Given the description of an element on the screen output the (x, y) to click on. 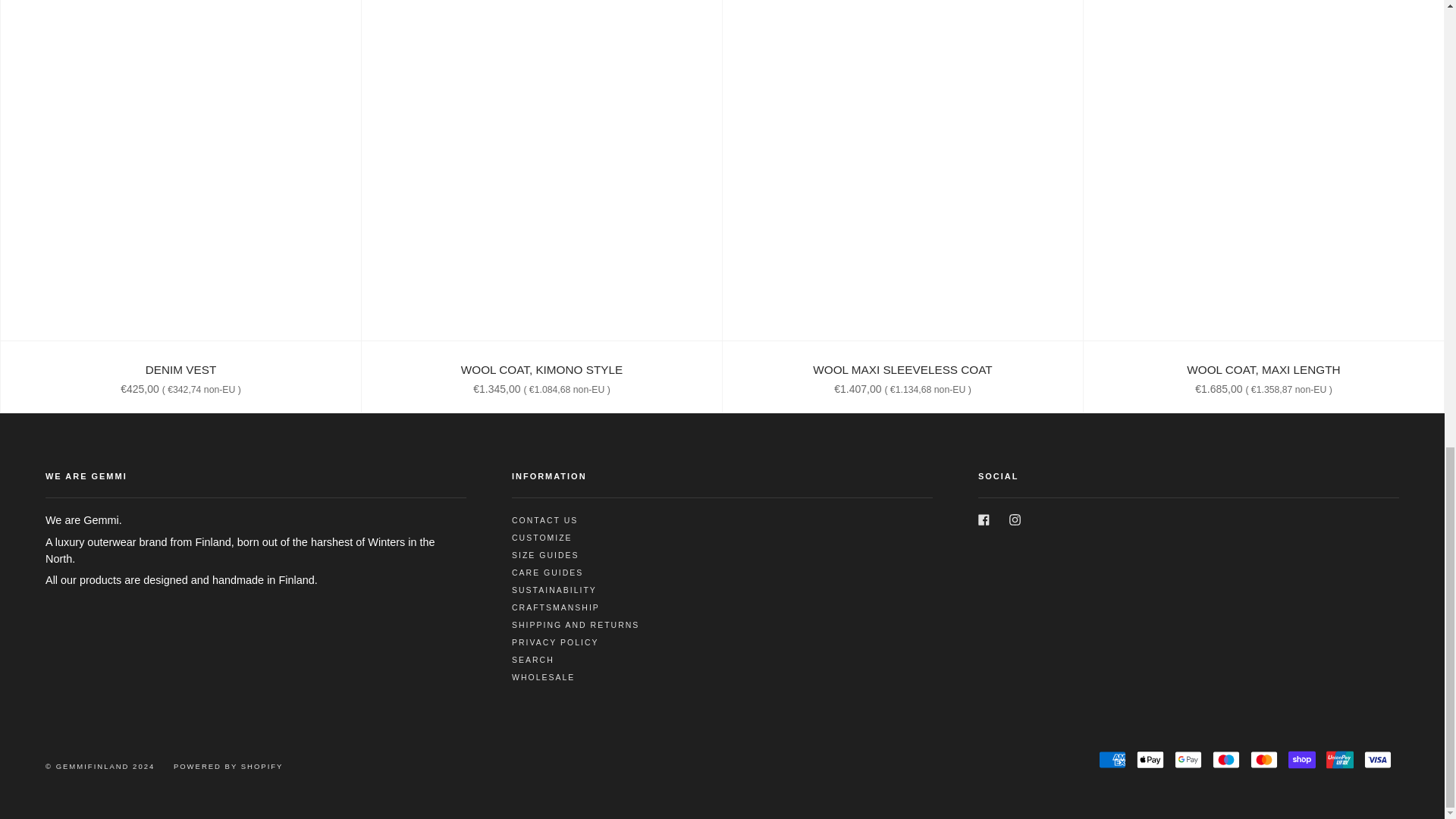
Visa (1377, 760)
Union Pay (1340, 760)
Apple Pay (1150, 760)
Gemmifinland on Facebook (984, 518)
Shop Pay (1302, 760)
Google Pay (1188, 760)
American Express (1112, 760)
Mastercard (1264, 760)
Gemmifinland on Instagram (1014, 518)
Maestro (1226, 760)
